Given the description of an element on the screen output the (x, y) to click on. 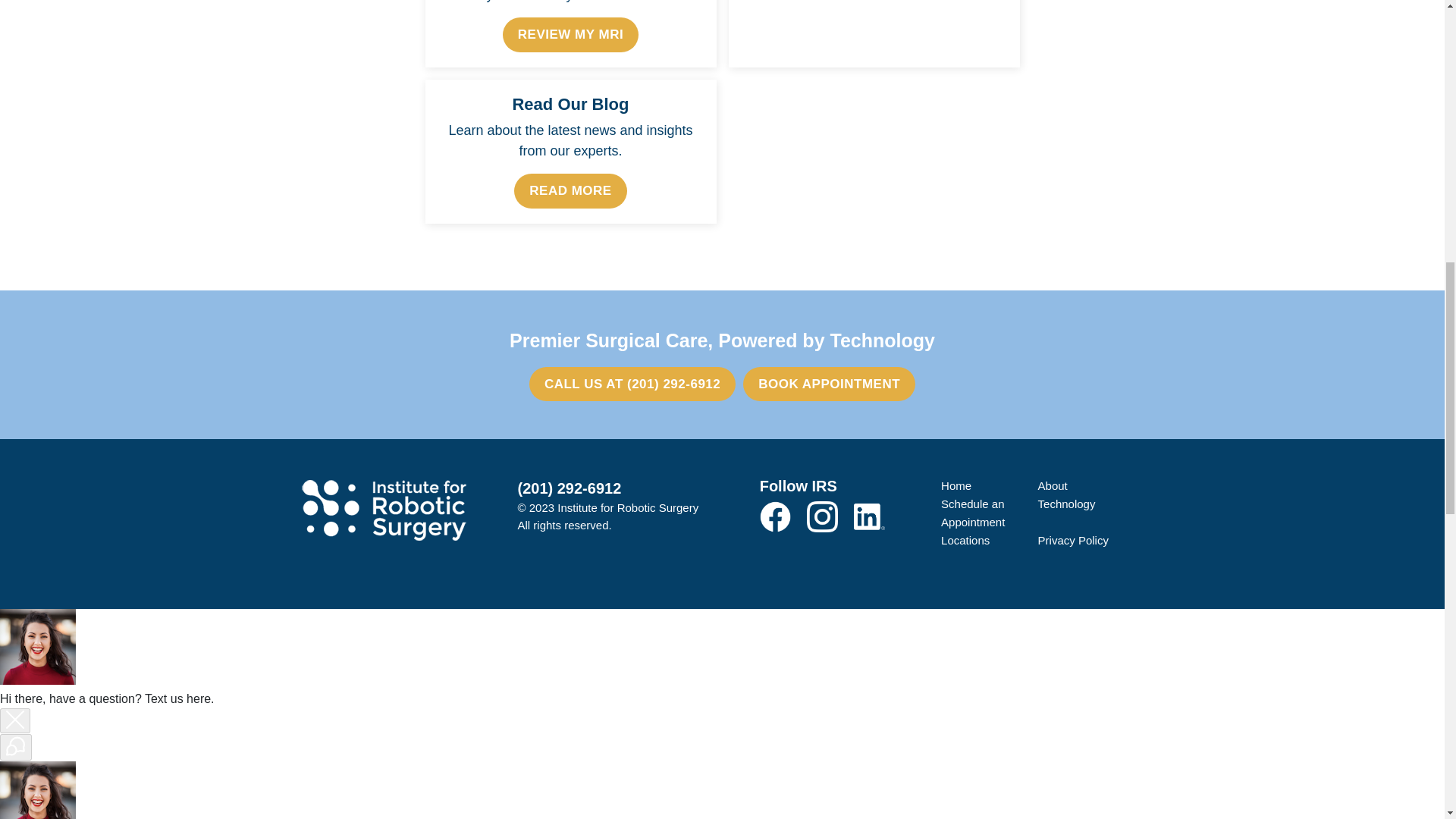
Privacy Policy (1073, 540)
BOOK APPOINTMENT (828, 384)
REVIEW MY MRI (570, 34)
Locations (965, 540)
Schedule an Appointment (972, 512)
READ MORE (569, 190)
Home (955, 485)
Technology (1067, 503)
About (1052, 485)
